Given the description of an element on the screen output the (x, y) to click on. 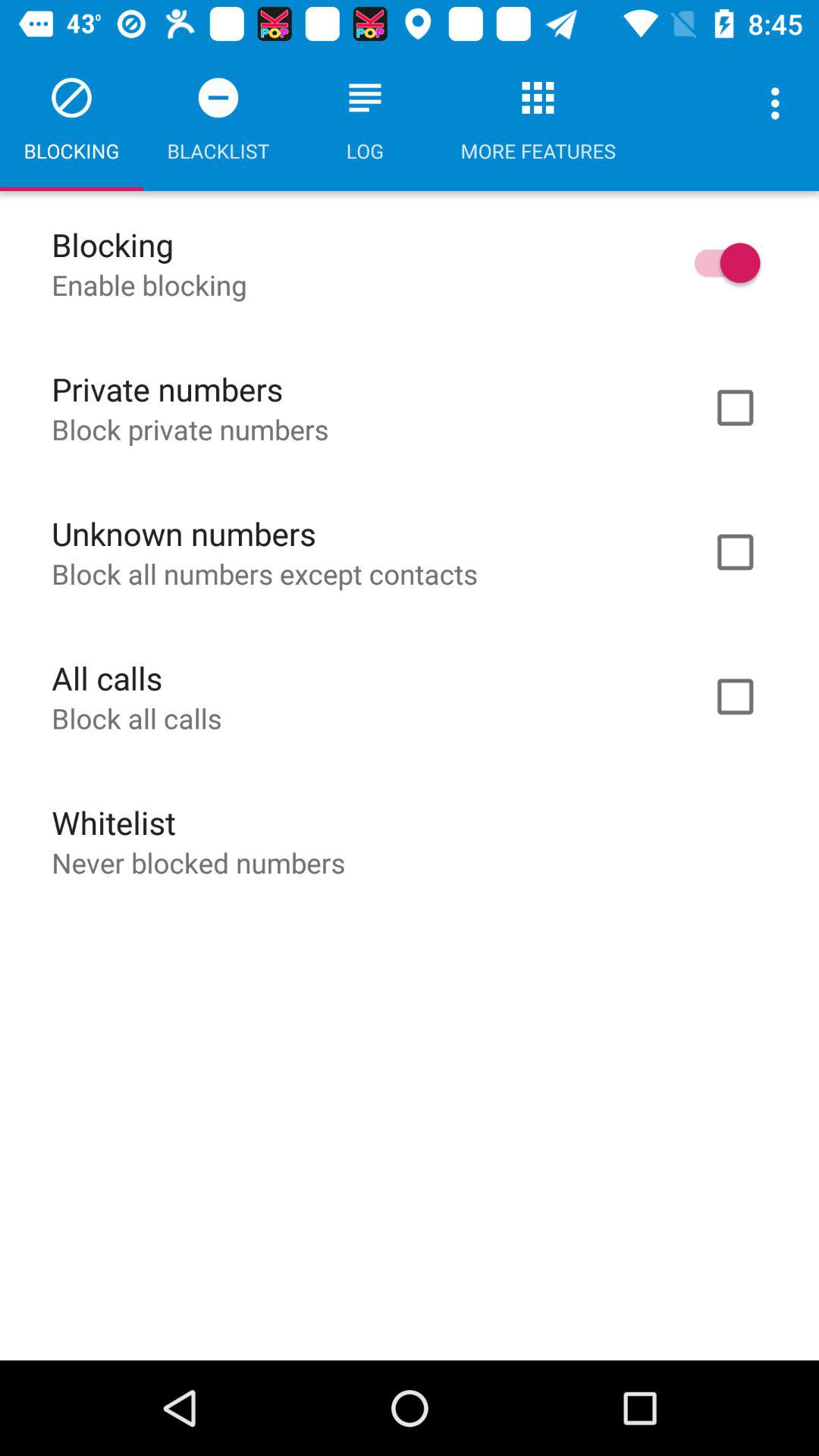
choose item to the right of more features (779, 103)
